Given the description of an element on the screen output the (x, y) to click on. 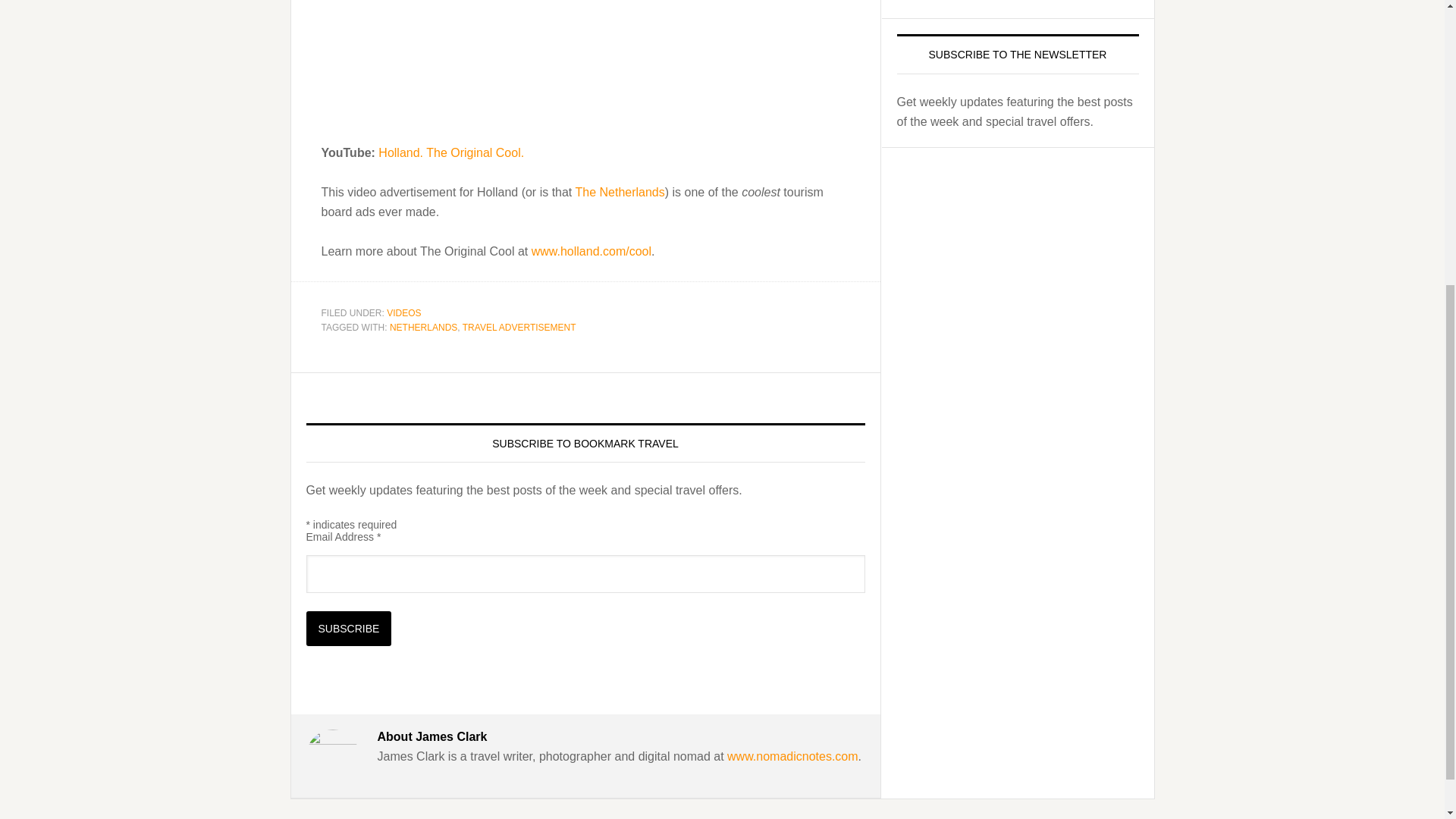
NETHERLANDS (423, 327)
Subscribe (348, 628)
www.nomadicnotes.com (792, 756)
TRAVEL ADVERTISEMENT (519, 327)
Holland. The Original Cool. (451, 152)
The Netherlands (619, 192)
Subscribe (348, 628)
VIDEOS (403, 312)
